Given the description of an element on the screen output the (x, y) to click on. 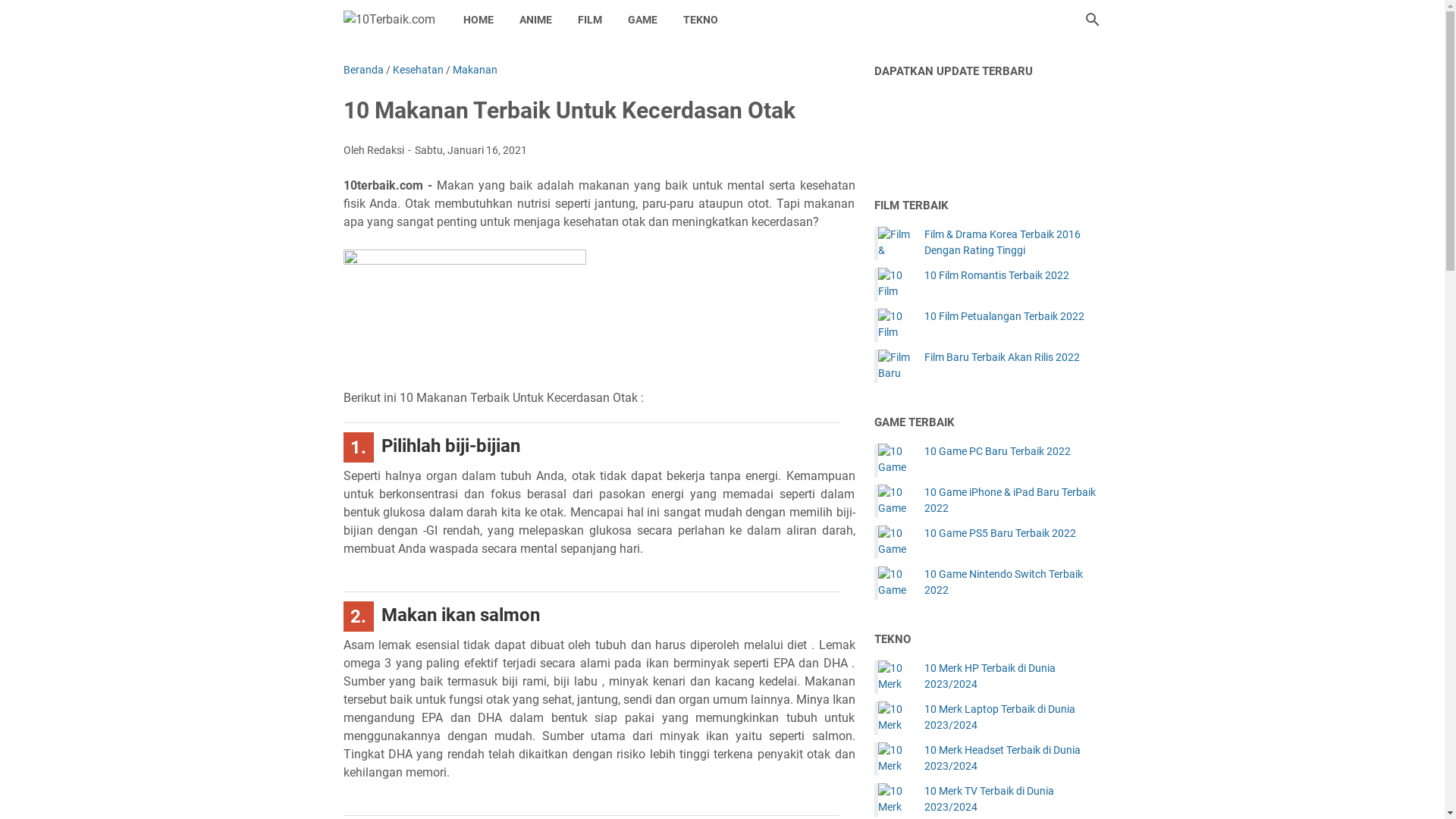
FILM Element type: text (589, 19)
10 Film Romantis Terbaik 2022 Element type: text (995, 275)
10 Game PS5 Baru Terbaik 2022 Element type: hover (894, 541)
Makanan Element type: text (473, 69)
10 Film Petualangan Terbaik 2022 Element type: text (1003, 316)
10 Game iPhone & iPad Baru Terbaik 2022 Element type: hover (894, 500)
Film Baru Terbaik Akan Rilis 2022 Element type: hover (894, 365)
10 Film Petualangan Terbaik 2022 Element type: hover (894, 325)
10 Merk HP Terbaik di Dunia 2023/2024 Element type: text (1012, 676)
Film Baru Terbaik Akan Rilis 2022 Element type: text (1001, 357)
10 Merk Headset Terbaik di Dunia 2023/2024 Element type: text (1012, 758)
10 Game Nintendo Switch Terbaik 2022 Element type: text (1012, 582)
ANIME Element type: text (535, 19)
TEKNO Element type: text (700, 19)
10 Merk HP Terbaik di Dunia 2023/2024 Element type: hover (894, 676)
10Terbaik.com Element type: hover (388, 19)
10 Game PC Baru Terbaik 2022 Element type: hover (894, 459)
10 Game Nintendo Switch Terbaik 2022 Element type: hover (894, 582)
10 Game iPhone & iPad Baru Terbaik 2022 Element type: text (1012, 500)
10 Merk TV Terbaik di Dunia 2023/2024 Element type: text (1012, 799)
GAME Element type: text (641, 19)
10 Merk TV Terbaik di Dunia 2023/2024 Element type: hover (894, 799)
Film & Drama Korea Terbaik 2016 Dengan Rating Tinggi Element type: hover (894, 243)
HOME Element type: text (478, 19)
Kesehatan Element type: text (417, 69)
10 Game PC Baru Terbaik 2022 Element type: text (996, 451)
Cari blog ini Element type: hover (1091, 19)
Beranda Element type: text (362, 69)
Film & Drama Korea Terbaik 2016 Dengan Rating Tinggi Element type: text (1012, 242)
10 Merk Laptop Terbaik di Dunia 2023/2024 Element type: hover (894, 717)
10 Merk Laptop Terbaik di Dunia 2023/2024 Element type: text (1012, 717)
10 Merk Headset Terbaik di Dunia 2023/2024 Element type: hover (894, 758)
10 Film Romantis Terbaik 2022 Element type: hover (894, 284)
10 Game PS5 Baru Terbaik 2022 Element type: text (999, 533)
